Given the description of an element on the screen output the (x, y) to click on. 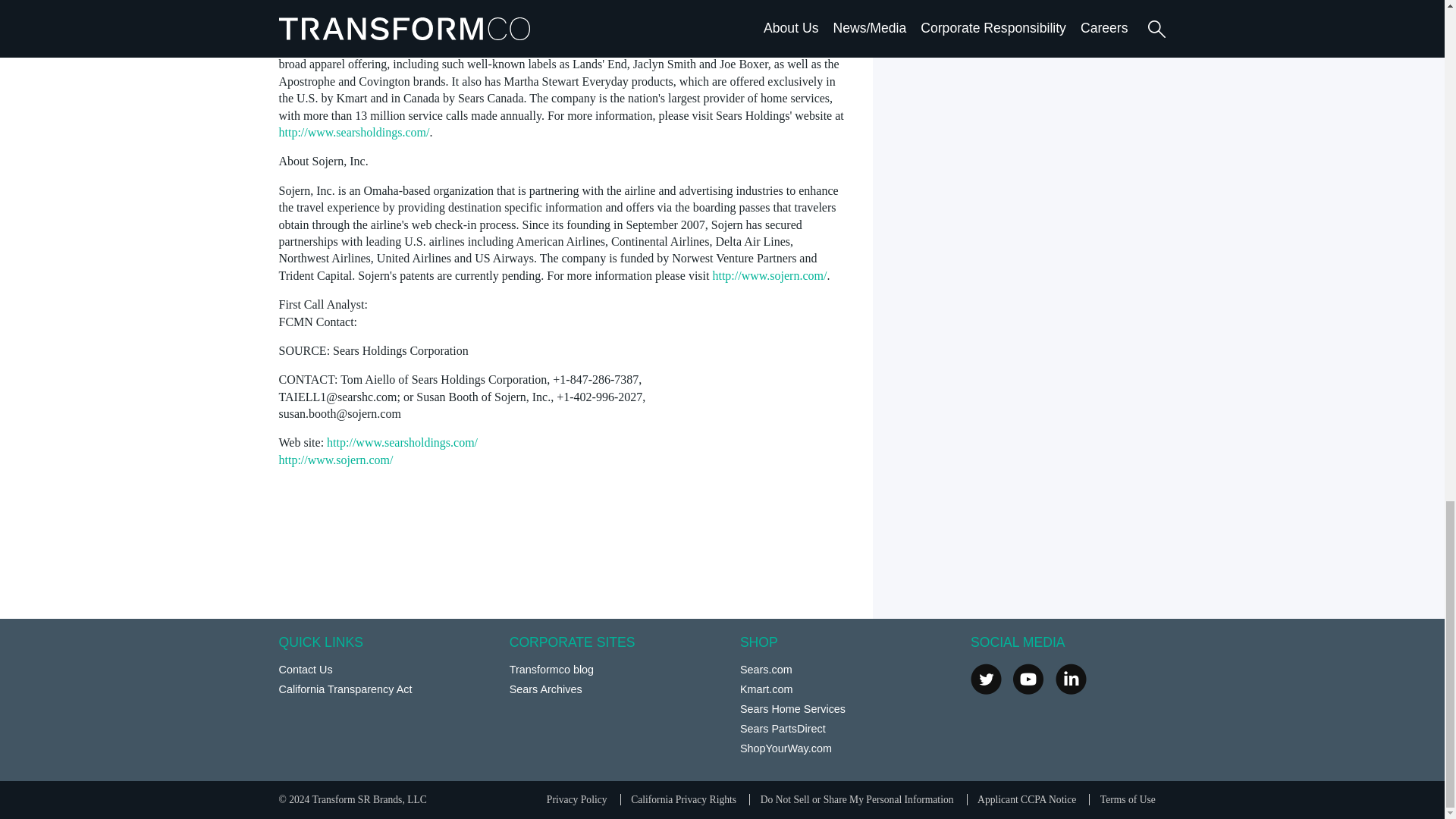
Privacy Policy (577, 799)
Applicant CCPA Notice (1025, 799)
California Privacy Rights (683, 799)
Follow us on Twitter (986, 678)
Follow us on YouTube (1028, 678)
Terms of Use (1128, 799)
Follow us on LinkedIn (1070, 678)
